Given the description of an element on the screen output the (x, y) to click on. 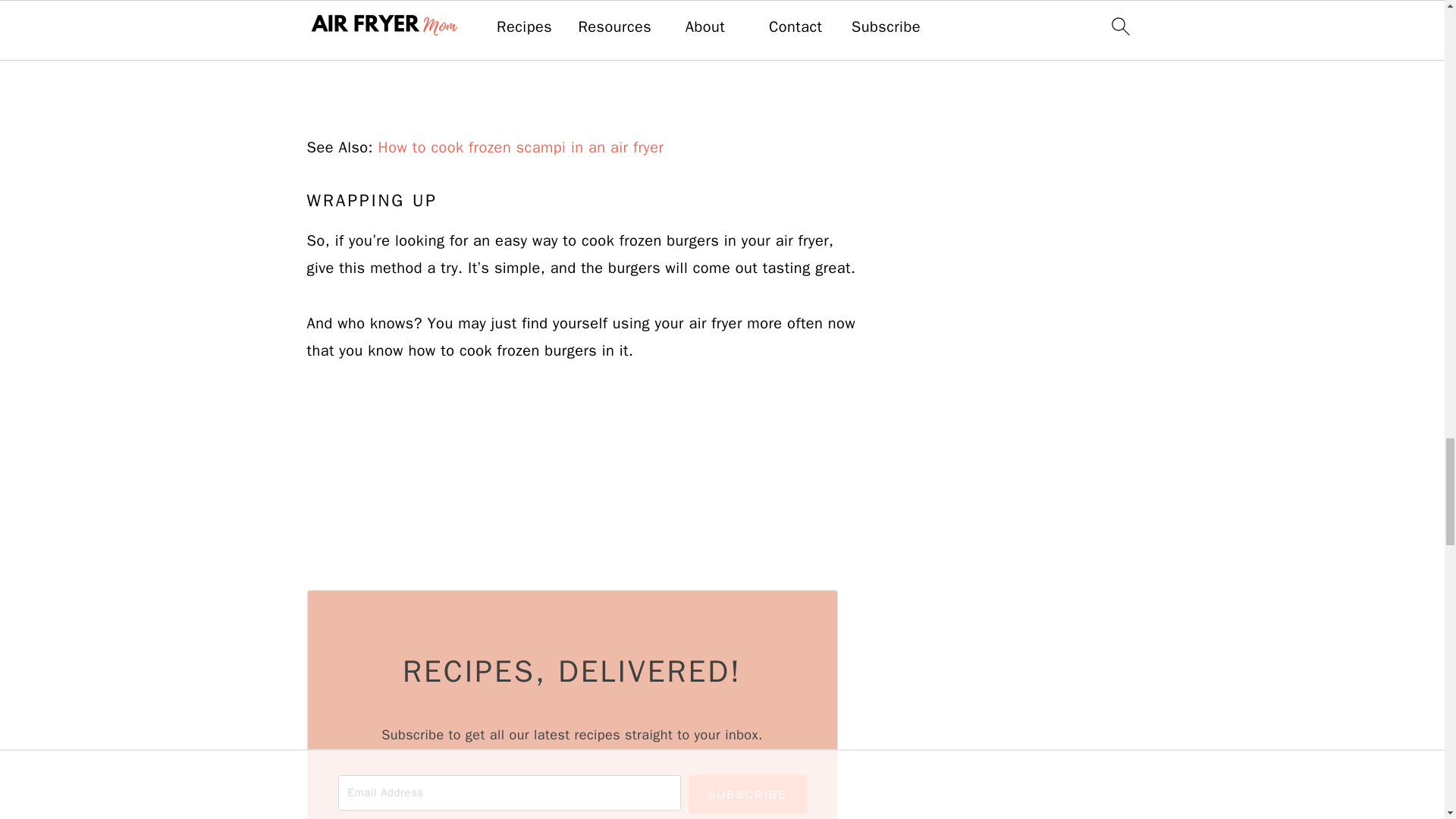
How to cook frozen scampi in an air fryer (520, 147)
SUBSCRIBE (747, 794)
